Given the description of an element on the screen output the (x, y) to click on. 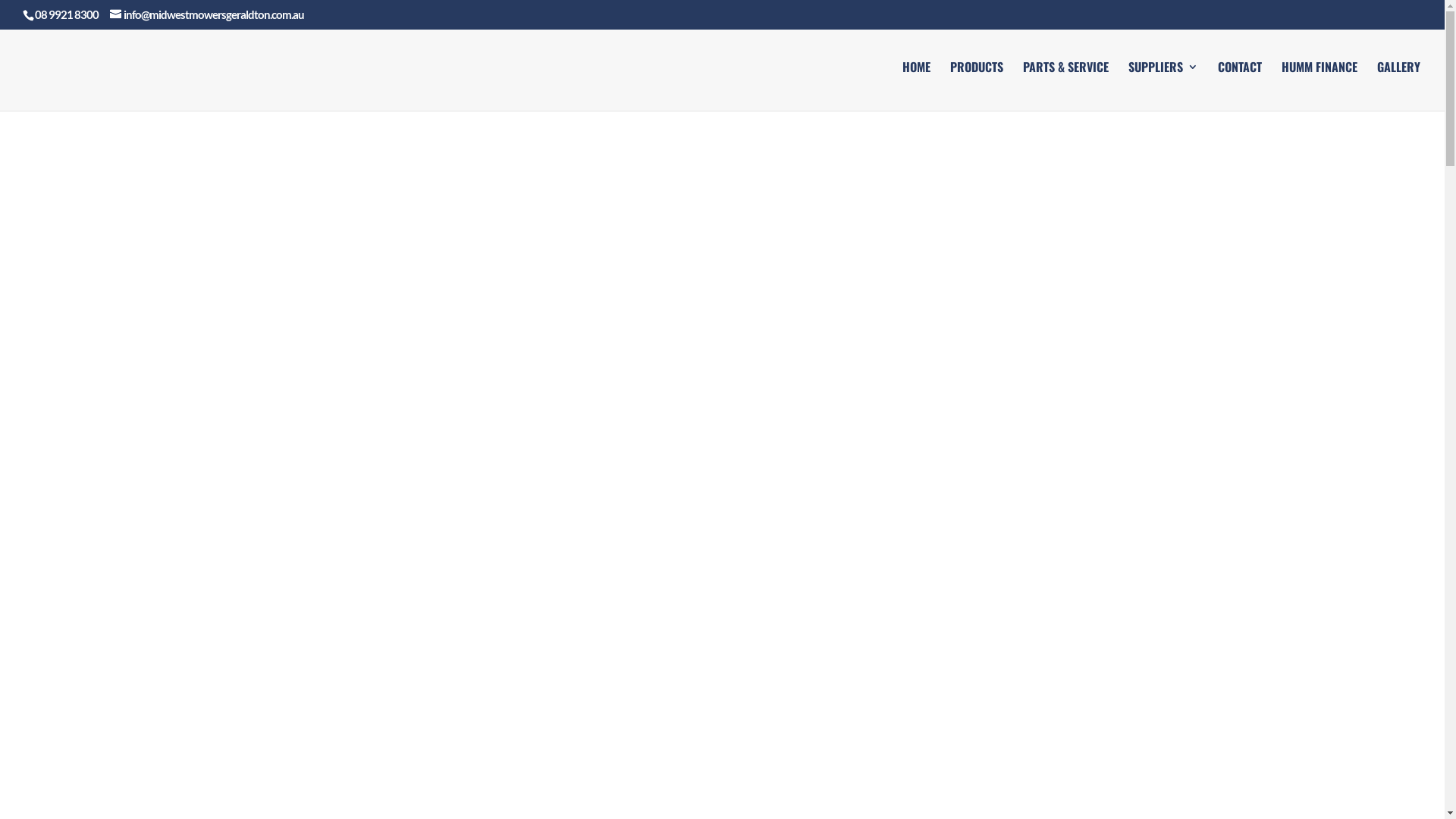
GALLERY Element type: text (1398, 85)
PARTS & SERVICE Element type: text (1065, 85)
SUPPLIERS Element type: text (1163, 85)
CONTACT Element type: text (1239, 85)
info@midwestmowersgeraldton.com.au Element type: text (206, 14)
HOME Element type: text (916, 85)
HUMM FINANCE Element type: text (1319, 85)
PRODUCTS Element type: text (976, 85)
